Given the description of an element on the screen output the (x, y) to click on. 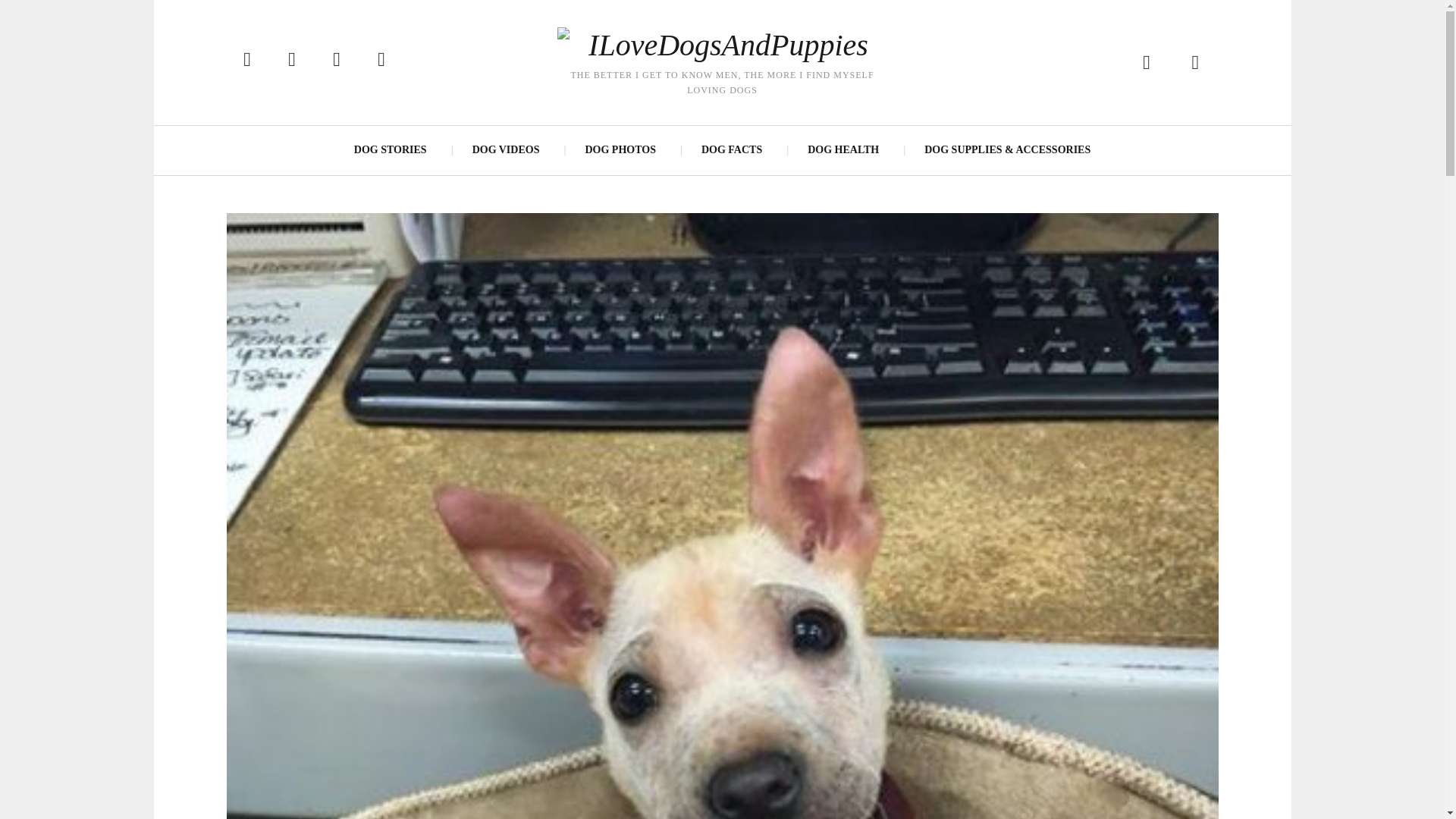
ILoveDogsAndPuppies (721, 45)
DOG STORIES (390, 150)
DOG PHOTOS (619, 150)
DOG FACTS (731, 150)
DOG HEALTH (842, 150)
DOG VIDEOS (505, 150)
